Given the description of an element on the screen output the (x, y) to click on. 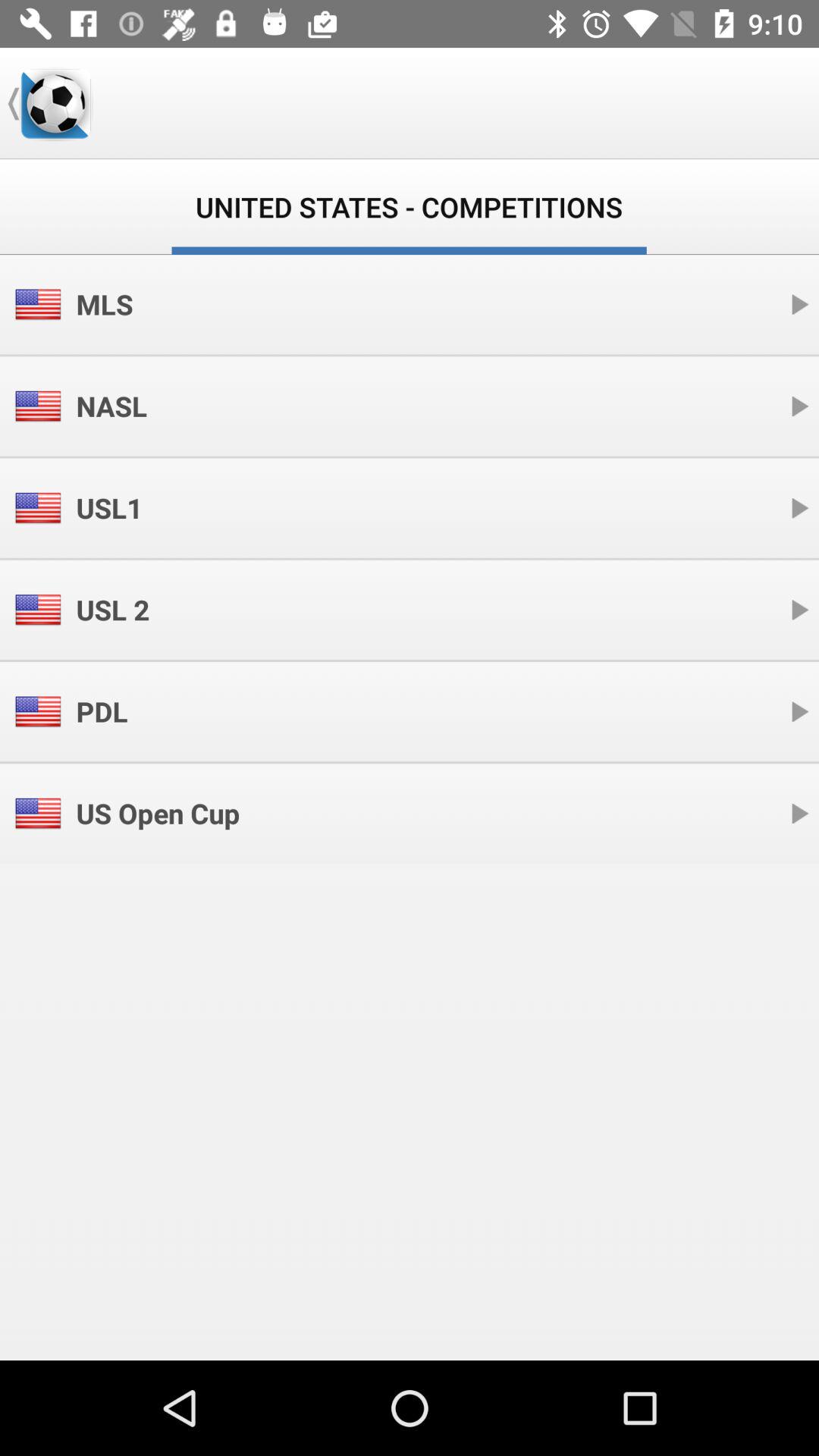
turn on icon below nasl icon (109, 507)
